Given the description of an element on the screen output the (x, y) to click on. 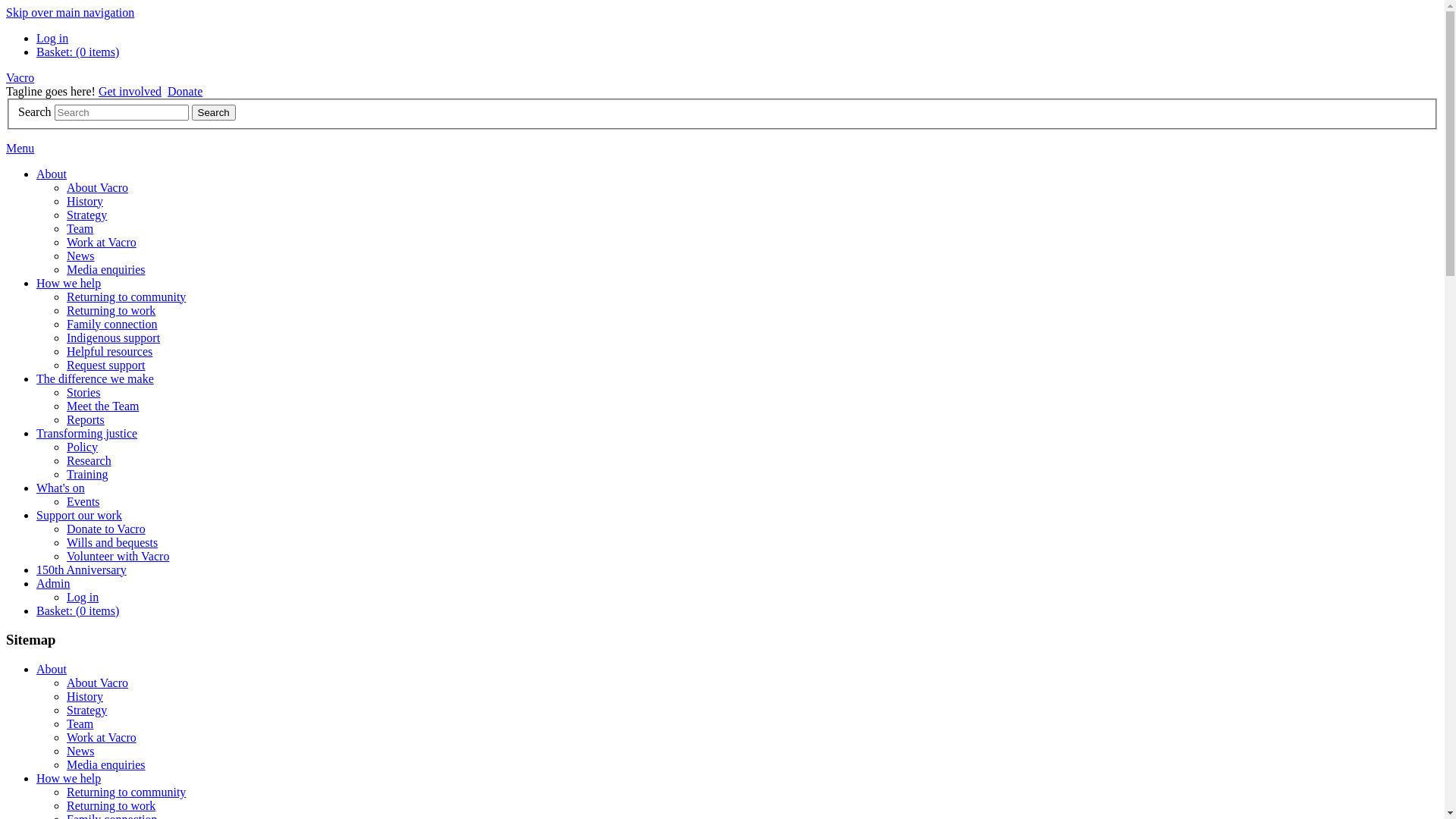
The difference we make Element type: text (94, 378)
Request support Element type: text (105, 364)
Strategy Element type: text (86, 709)
Indigenous support Element type: text (113, 337)
Reports Element type: text (85, 419)
Family connection Element type: text (111, 323)
Donate Element type: text (184, 90)
How we help Element type: text (68, 777)
Vacro Element type: text (20, 77)
Work at Vacro Element type: text (101, 241)
Search Element type: text (213, 112)
Training Element type: text (87, 473)
About Element type: text (51, 173)
Support our work Element type: text (79, 514)
Donate to Vacro Element type: text (105, 528)
Team Element type: text (79, 228)
Get involved Element type: text (129, 90)
Wills and bequests Element type: text (111, 542)
Admin Element type: text (52, 583)
About Element type: text (51, 668)
Media enquiries Element type: text (105, 764)
Search Element type: hover (121, 112)
History Element type: text (84, 200)
History Element type: text (84, 696)
Returning to community Element type: text (125, 296)
Basket: (0 items) Element type: text (77, 610)
Volunteer with Vacro Element type: text (117, 555)
Returning to community Element type: text (125, 791)
150th Anniversary Element type: text (81, 569)
Menu Element type: text (20, 147)
About Vacro Element type: text (97, 682)
Basket: (0 items) Element type: text (77, 51)
Log in Element type: text (82, 596)
Transforming justice Element type: text (86, 432)
What's on Element type: text (60, 487)
Work at Vacro Element type: text (101, 737)
Policy Element type: text (81, 446)
Research Element type: text (88, 460)
Returning to work Element type: text (110, 805)
Stories Element type: text (83, 391)
Strategy Element type: text (86, 214)
Media enquiries Element type: text (105, 269)
Helpful resources Element type: text (109, 351)
Returning to work Element type: text (110, 310)
Events Element type: text (83, 501)
How we help Element type: text (68, 282)
About Vacro Element type: text (97, 187)
News Element type: text (80, 750)
News Element type: text (80, 255)
Log in Element type: text (52, 37)
Team Element type: text (79, 723)
Meet the Team Element type: text (102, 405)
Skip over main navigation Element type: text (70, 12)
